Given the description of an element on the screen output the (x, y) to click on. 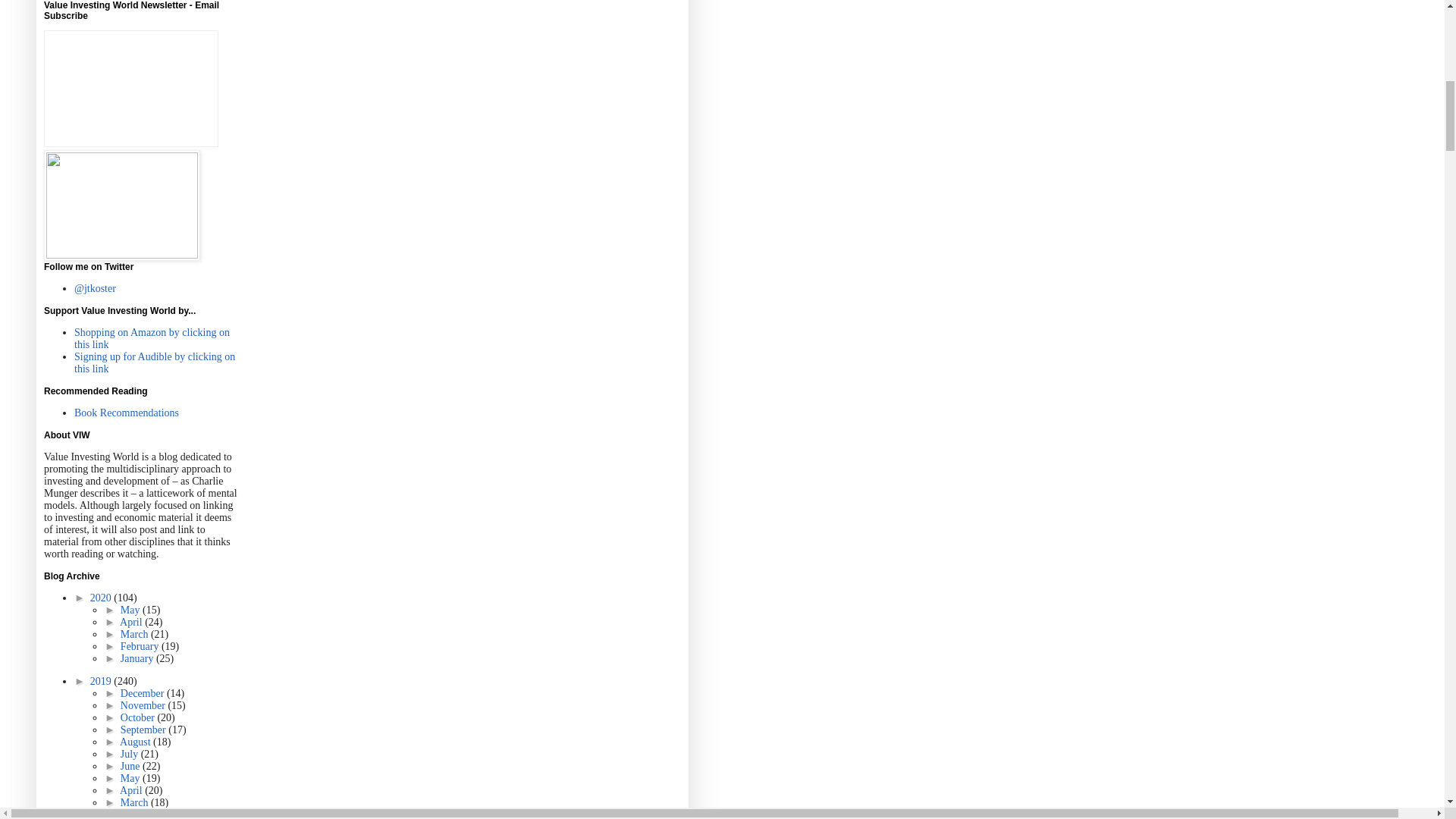
October (138, 717)
December (143, 693)
January (137, 658)
Older Post (152, 1)
May (131, 609)
Newer Post (94, 1)
Book Recommendations (126, 412)
2019 (102, 681)
Older Post (152, 1)
Newer Post (94, 1)
April (131, 622)
Shopping on Amazon by clicking on this link (152, 338)
Signing up for Audible by clicking on this link (154, 362)
September (144, 729)
November (144, 705)
